Given the description of an element on the screen output the (x, y) to click on. 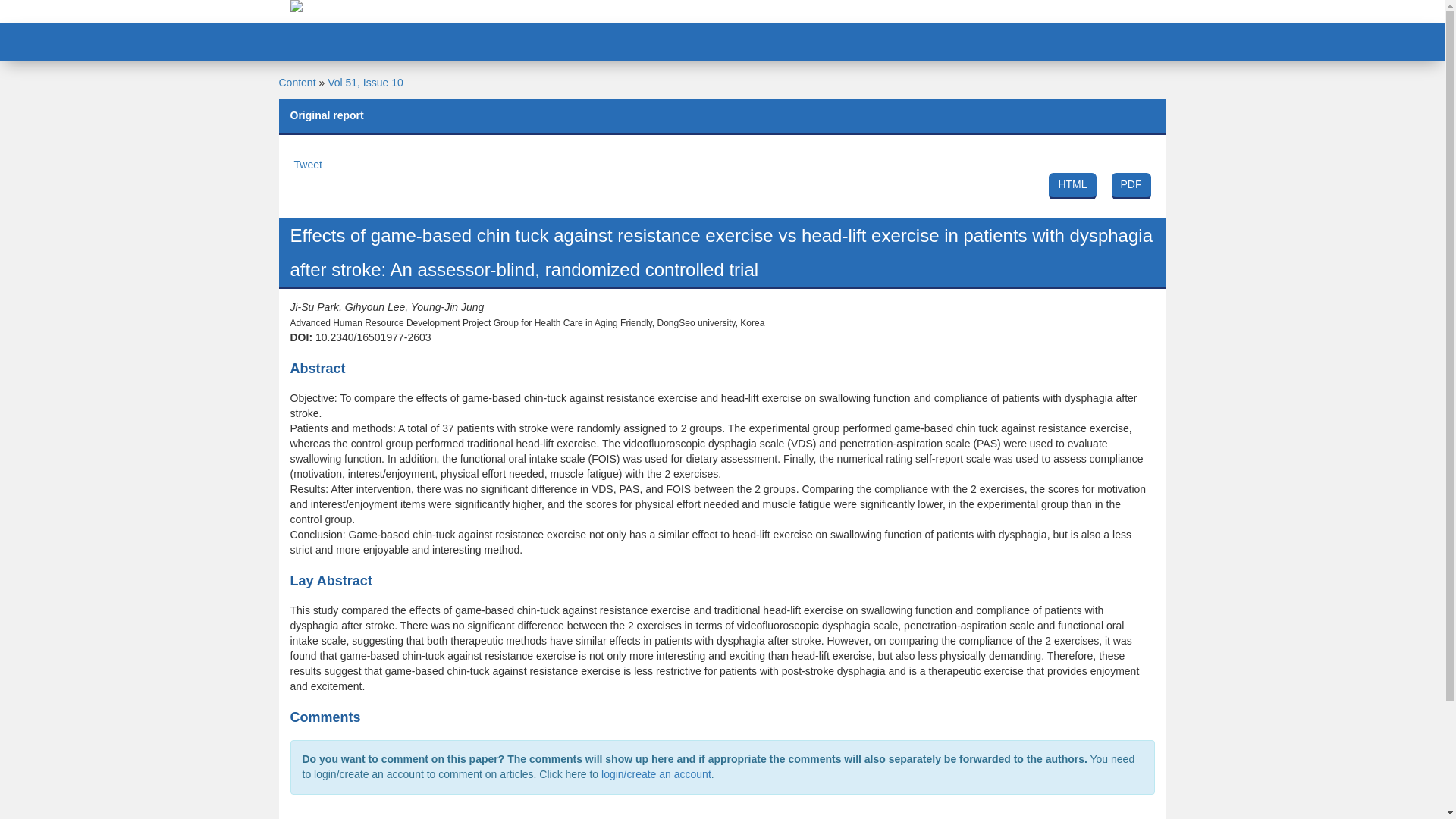
Tweet (307, 164)
PDF (1131, 185)
Content (297, 82)
Vol 51, Issue 10 (365, 82)
HTML (1072, 185)
